Given the description of an element on the screen output the (x, y) to click on. 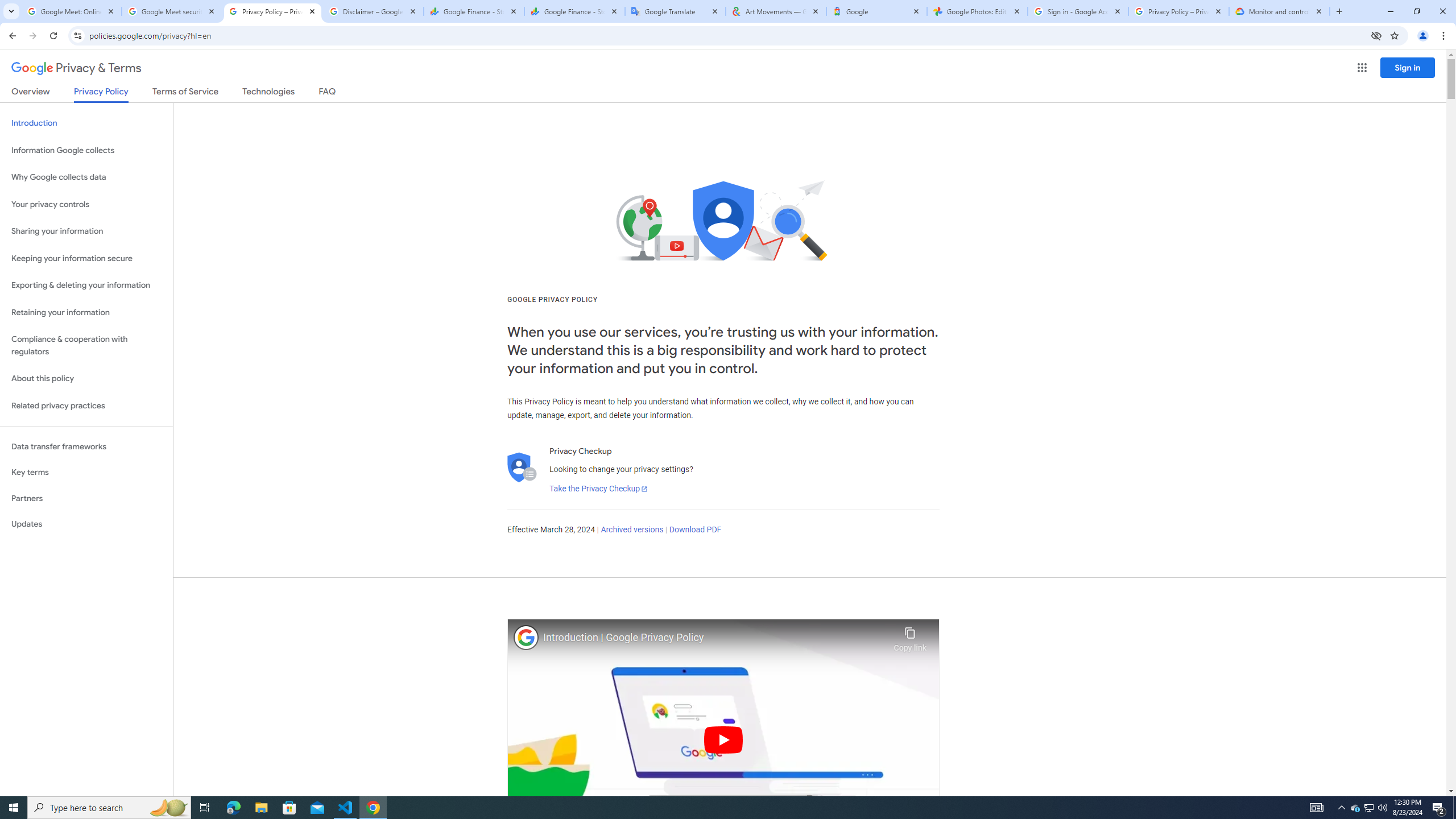
Google Translate (675, 11)
Take the Privacy Checkup (597, 488)
Sign in - Google Accounts (1078, 11)
Copy link (909, 636)
Google (876, 11)
